Given the description of an element on the screen output the (x, y) to click on. 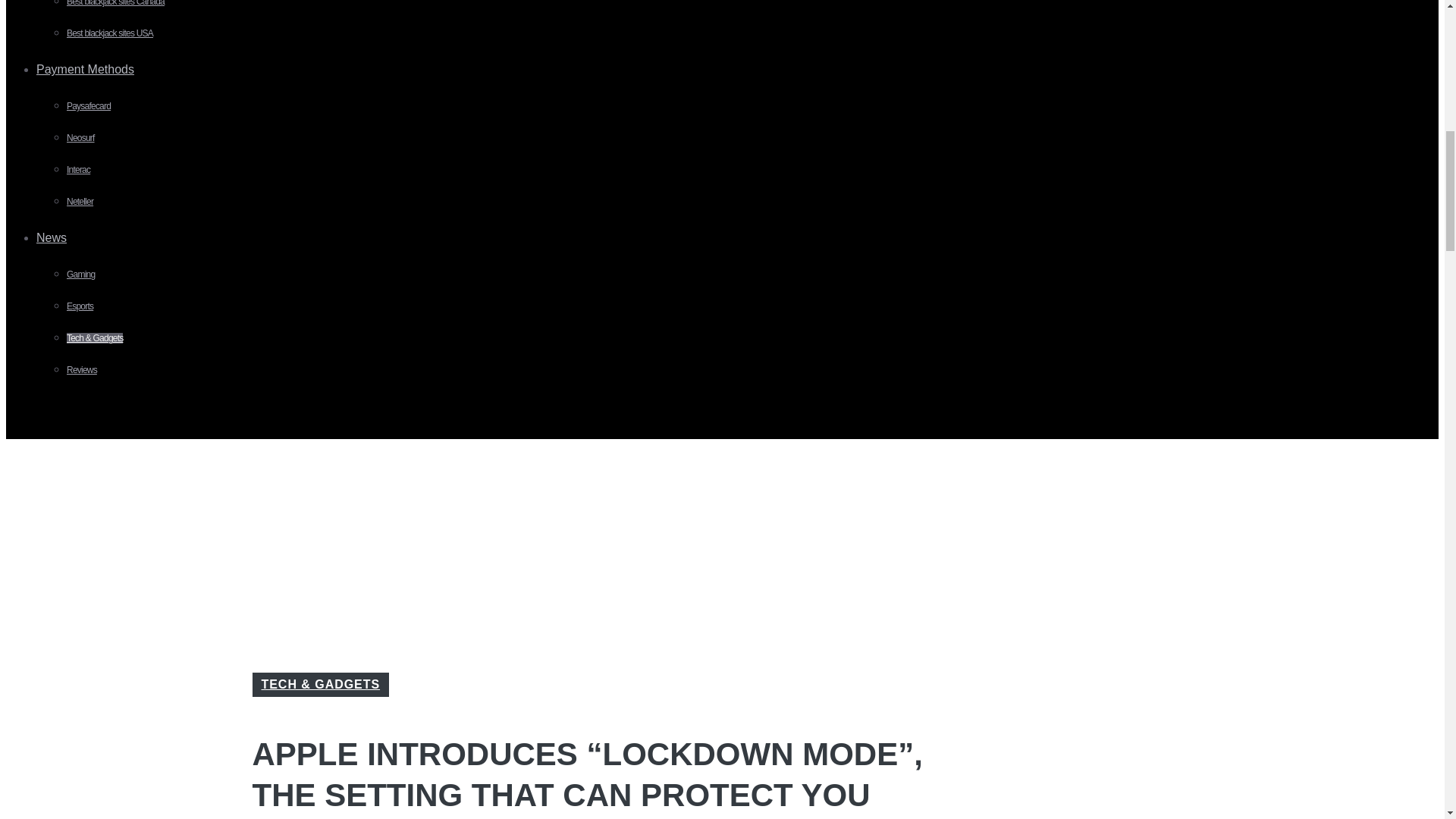
Payment Methods (91, 69)
Gaming (80, 274)
Interac (78, 169)
Best blackjack sites USA (109, 32)
News (57, 237)
Neosurf (80, 137)
Neteller (79, 201)
Scroll back to top (1406, 720)
Best blackjack sites Canada (115, 3)
Reviews (81, 369)
